Given the description of an element on the screen output the (x, y) to click on. 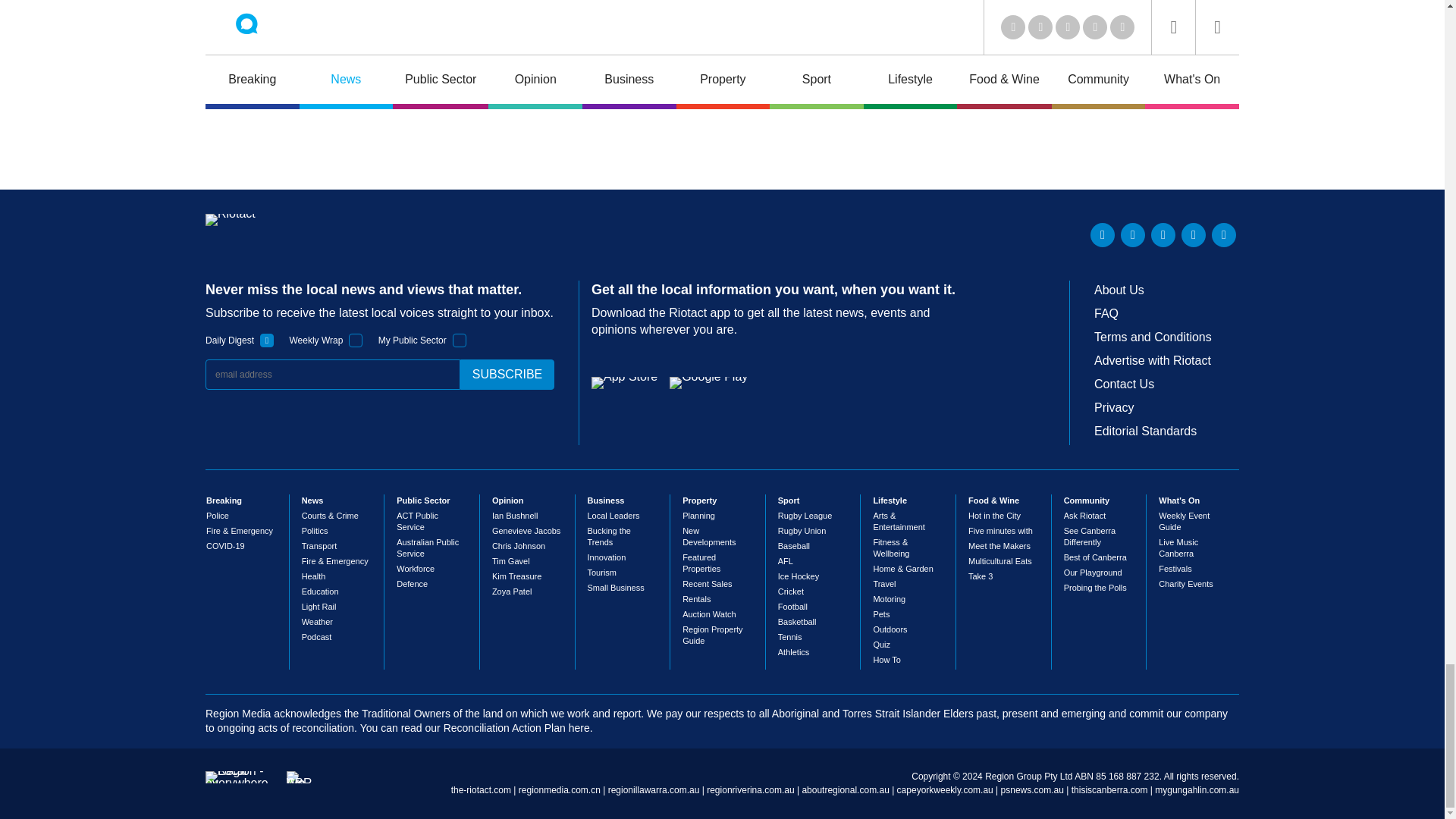
Youtube (1162, 234)
Instagram (1223, 234)
1 (266, 340)
Twitter (1132, 234)
Facebook (1192, 234)
1 (458, 340)
1 (355, 340)
subscribe (507, 374)
LinkedIn (1102, 234)
App Store (624, 382)
